Given the description of an element on the screen output the (x, y) to click on. 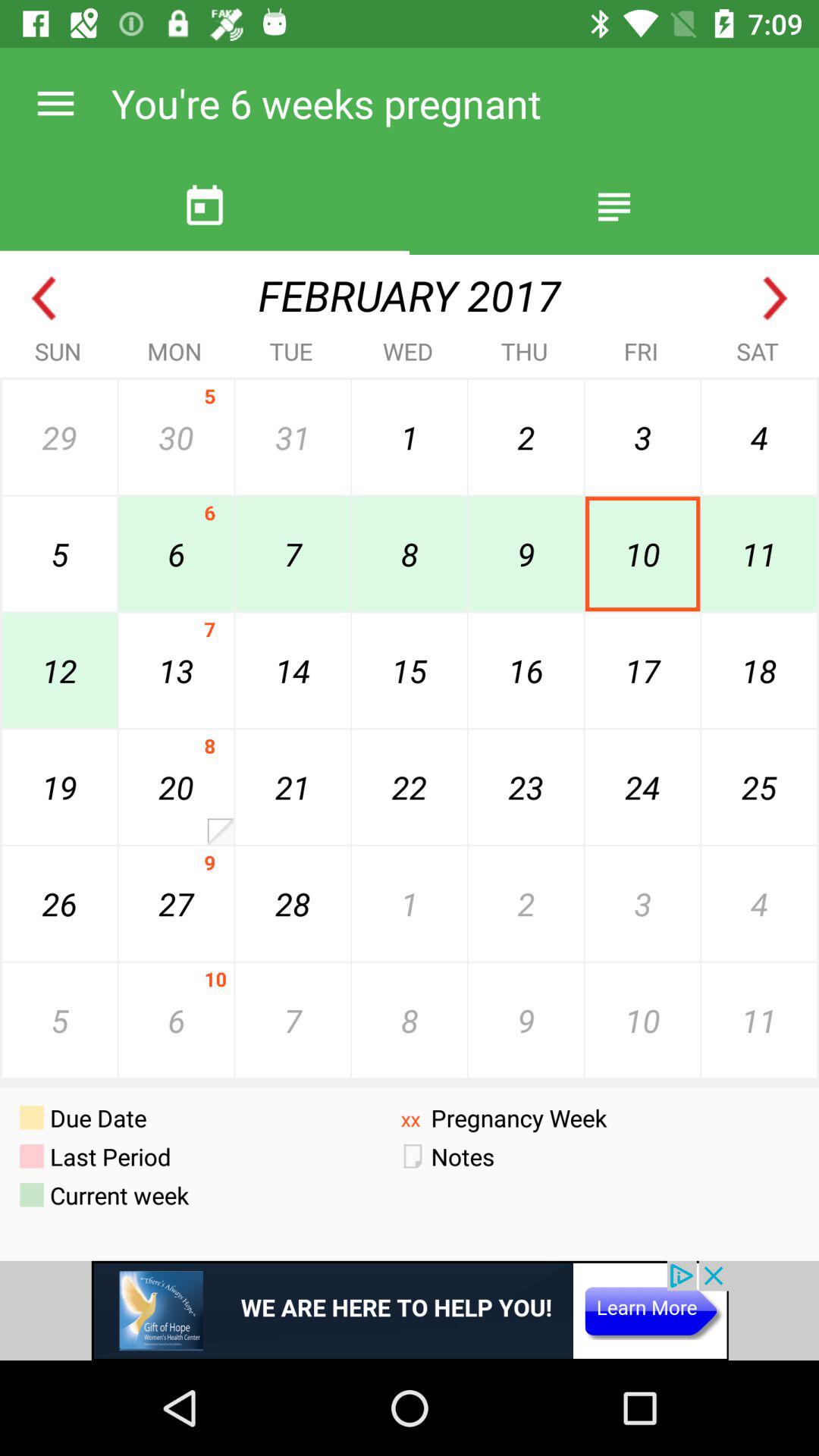
open advertisement (409, 1310)
